Given the description of an element on the screen output the (x, y) to click on. 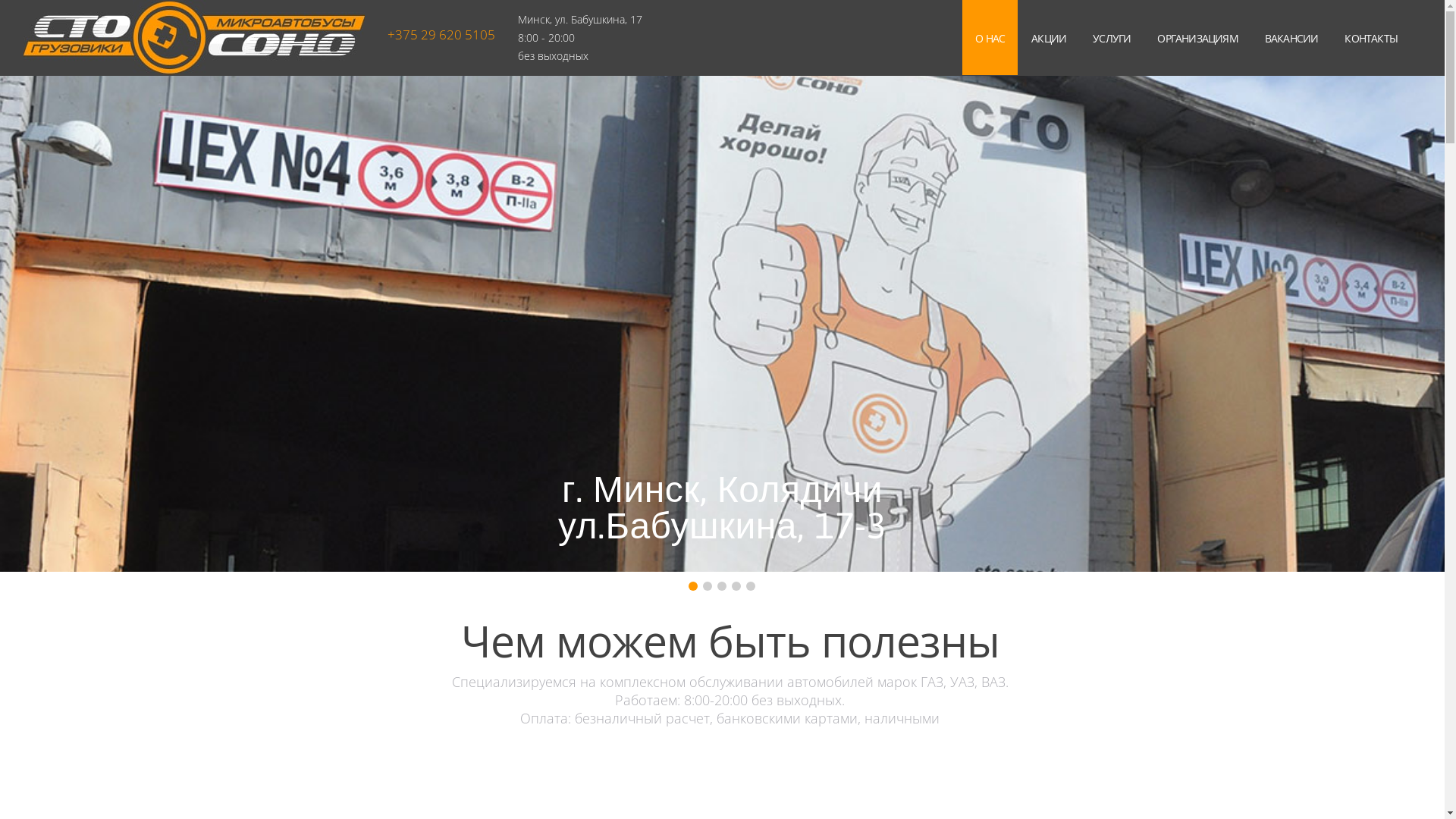
+375 29 620 5105 Element type: text (441, 34)
